Given the description of an element on the screen output the (x, y) to click on. 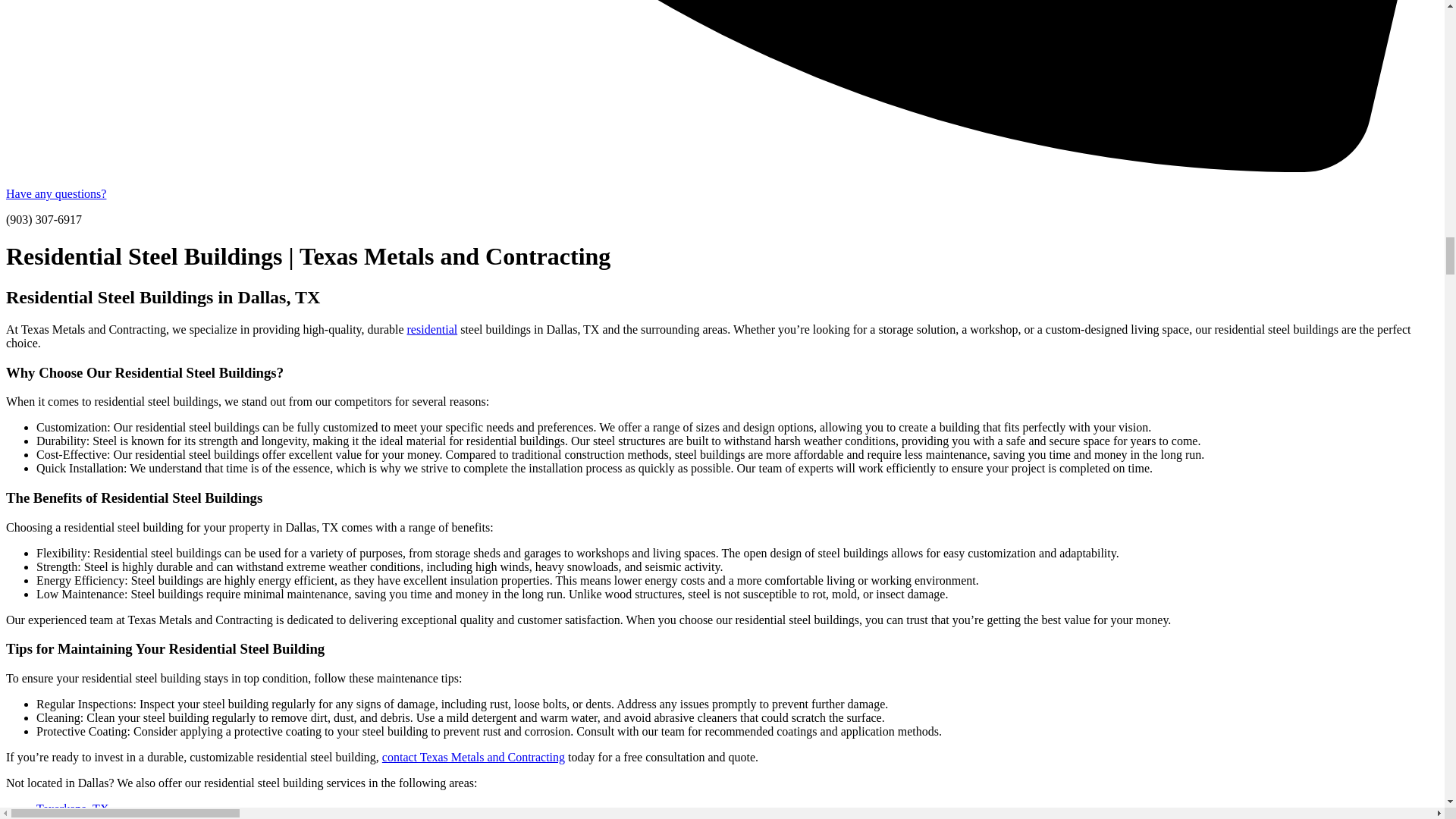
Have any questions? (55, 193)
Tyler, TX (59, 817)
contact Texas Metals and Contracting (472, 757)
Texarkana, TX (71, 808)
residential (432, 328)
